Given the description of an element on the screen output the (x, y) to click on. 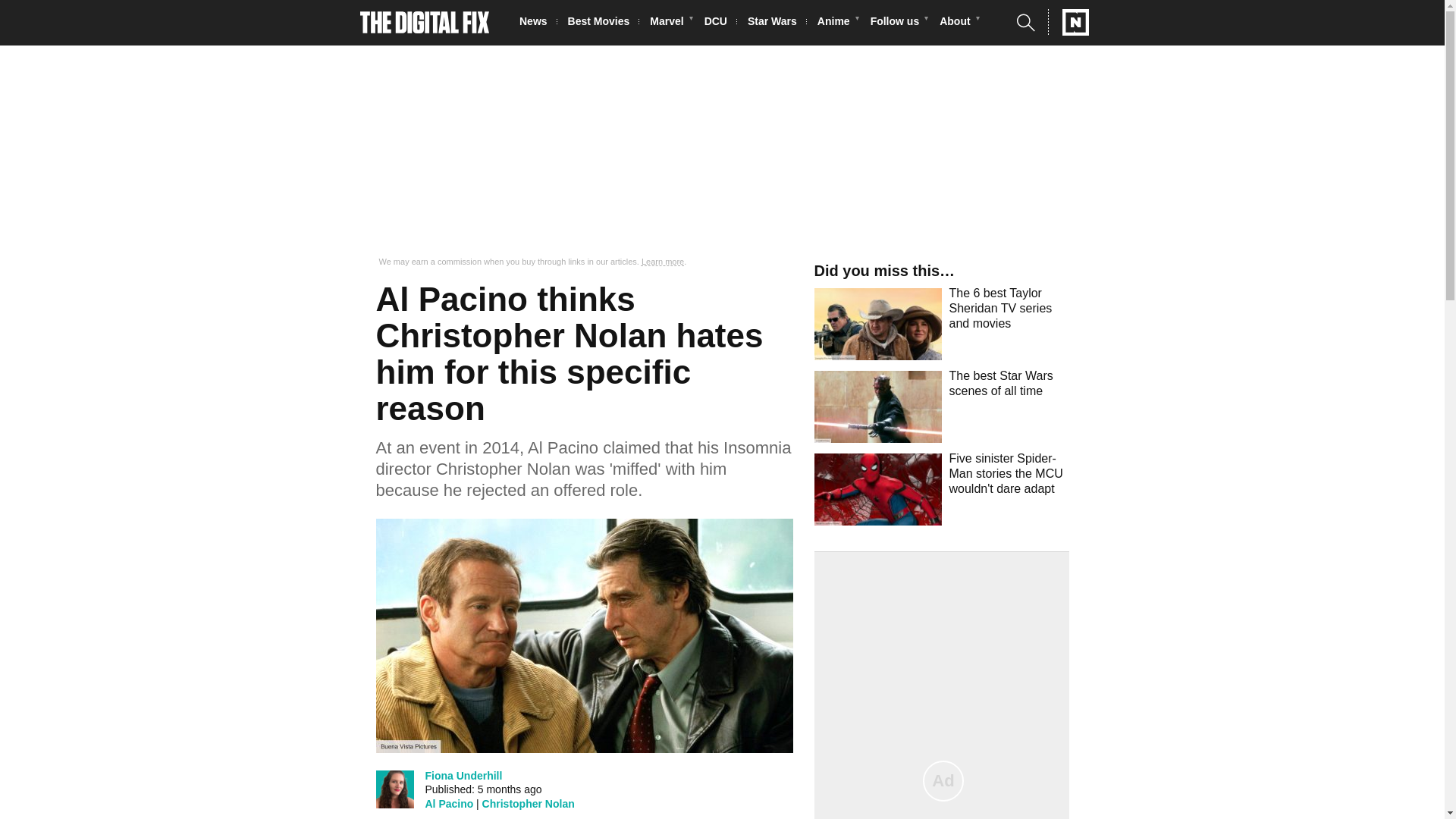
Learn more (663, 261)
The Digital Fix (424, 22)
Star Wars (777, 22)
Star Wars News (777, 22)
Best Movies (603, 22)
Anime (837, 22)
Marvel (671, 22)
Follow us (899, 22)
Network N Media (1068, 22)
Al Pacino (449, 803)
